Given the description of an element on the screen output the (x, y) to click on. 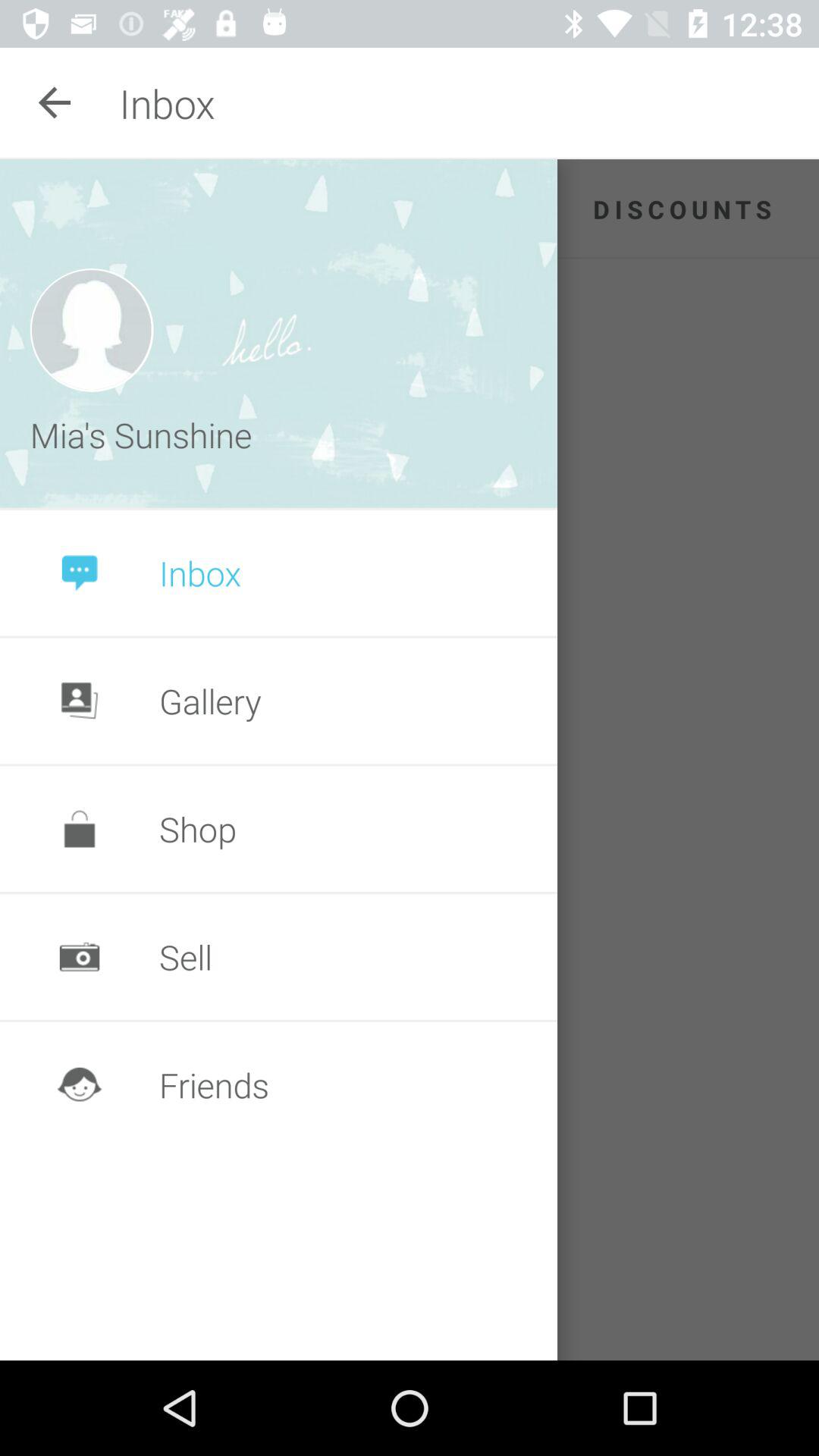
tap the icon to the left of the discounts app (278, 333)
